Given the description of an element on the screen output the (x, y) to click on. 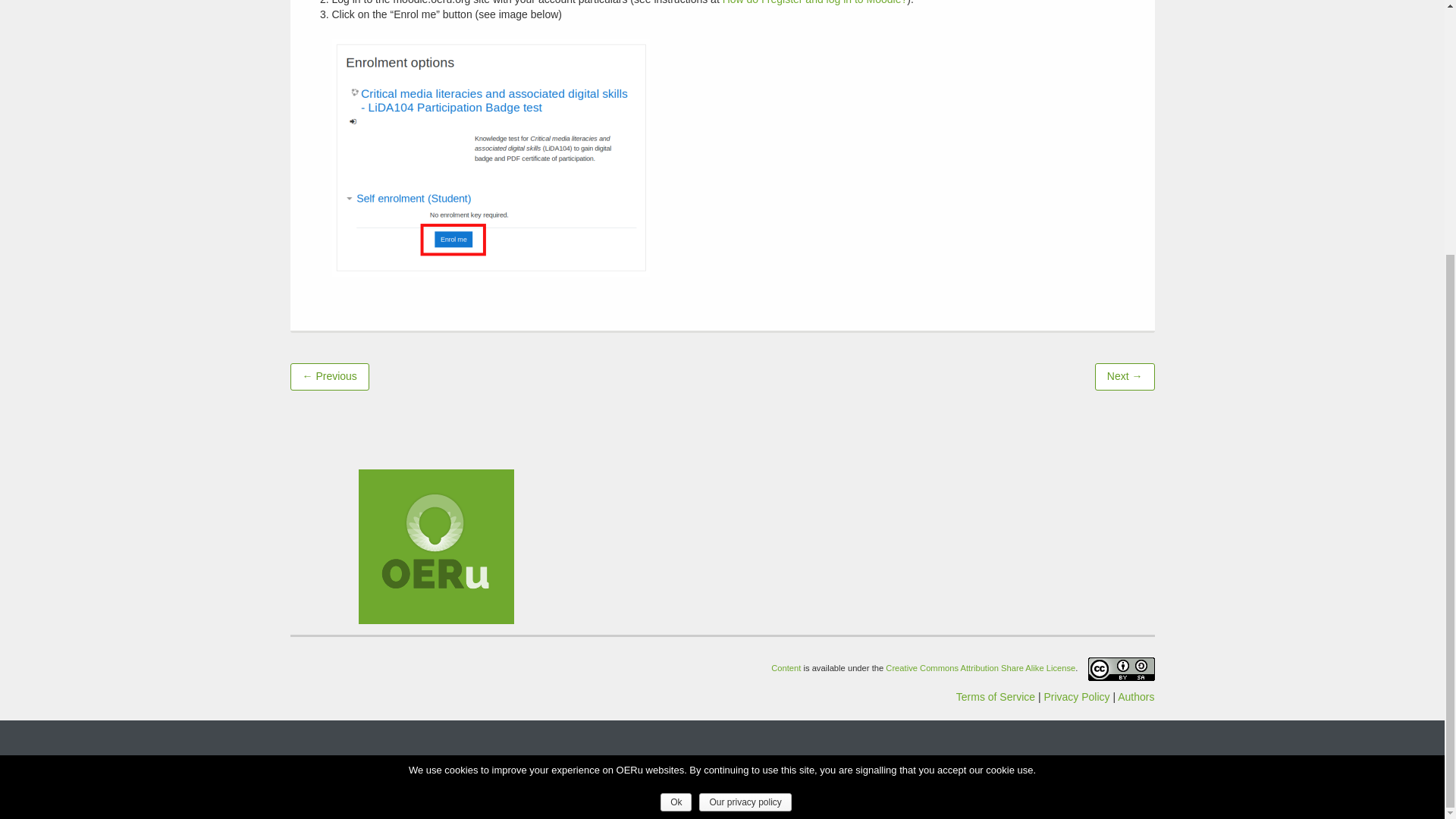
WikiEducator:Copyrights (980, 667)
original content in WikiEducator (785, 667)
institution logo (435, 546)
